Given the description of an element on the screen output the (x, y) to click on. 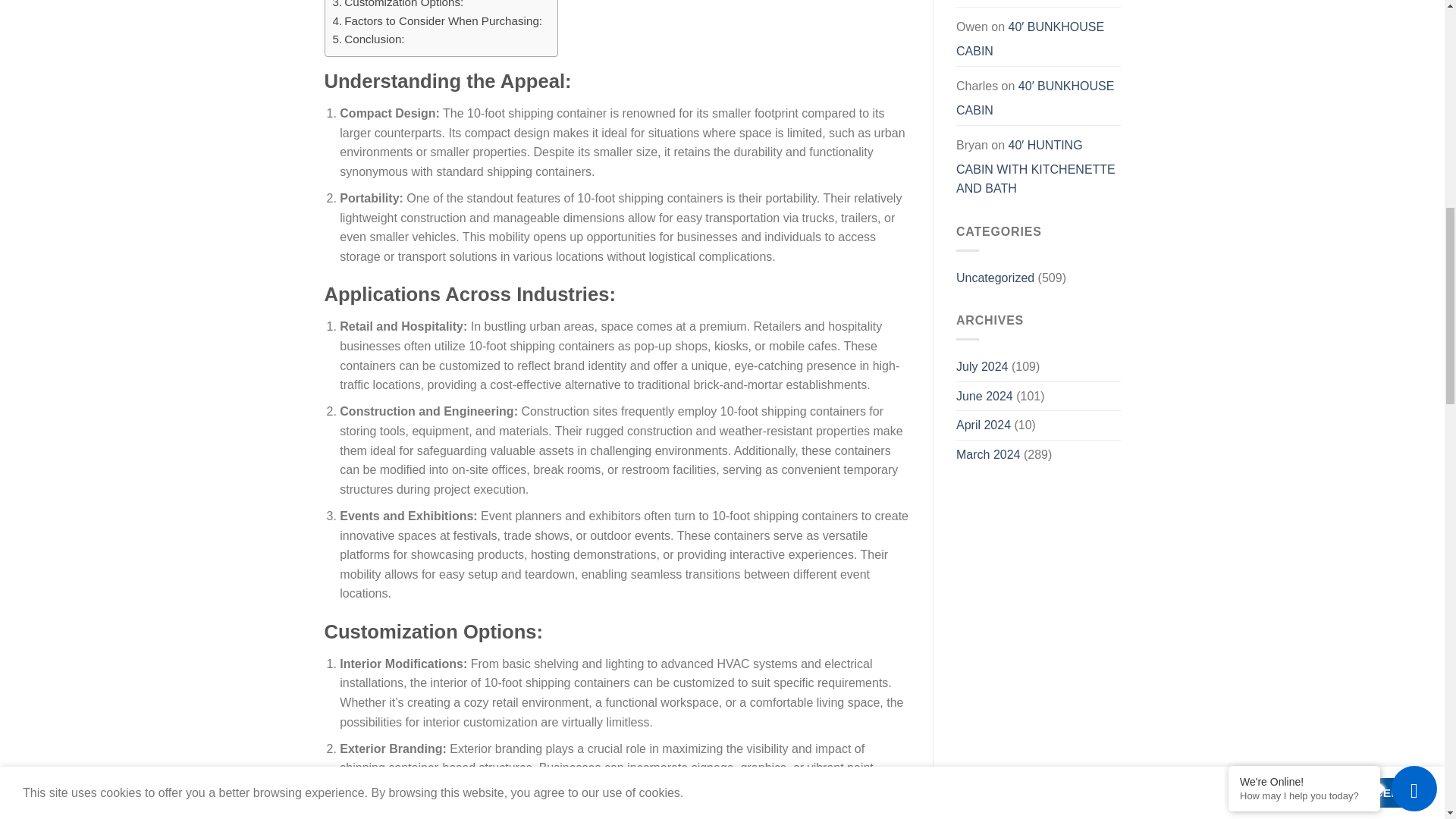
Factors to Consider When Purchasing: (436, 21)
Conclusion: (367, 39)
Conclusion: (367, 39)
Customization Options: (397, 5)
Factors to Consider When Purchasing: (436, 21)
Customization Options: (397, 5)
